Given the description of an element on the screen output the (x, y) to click on. 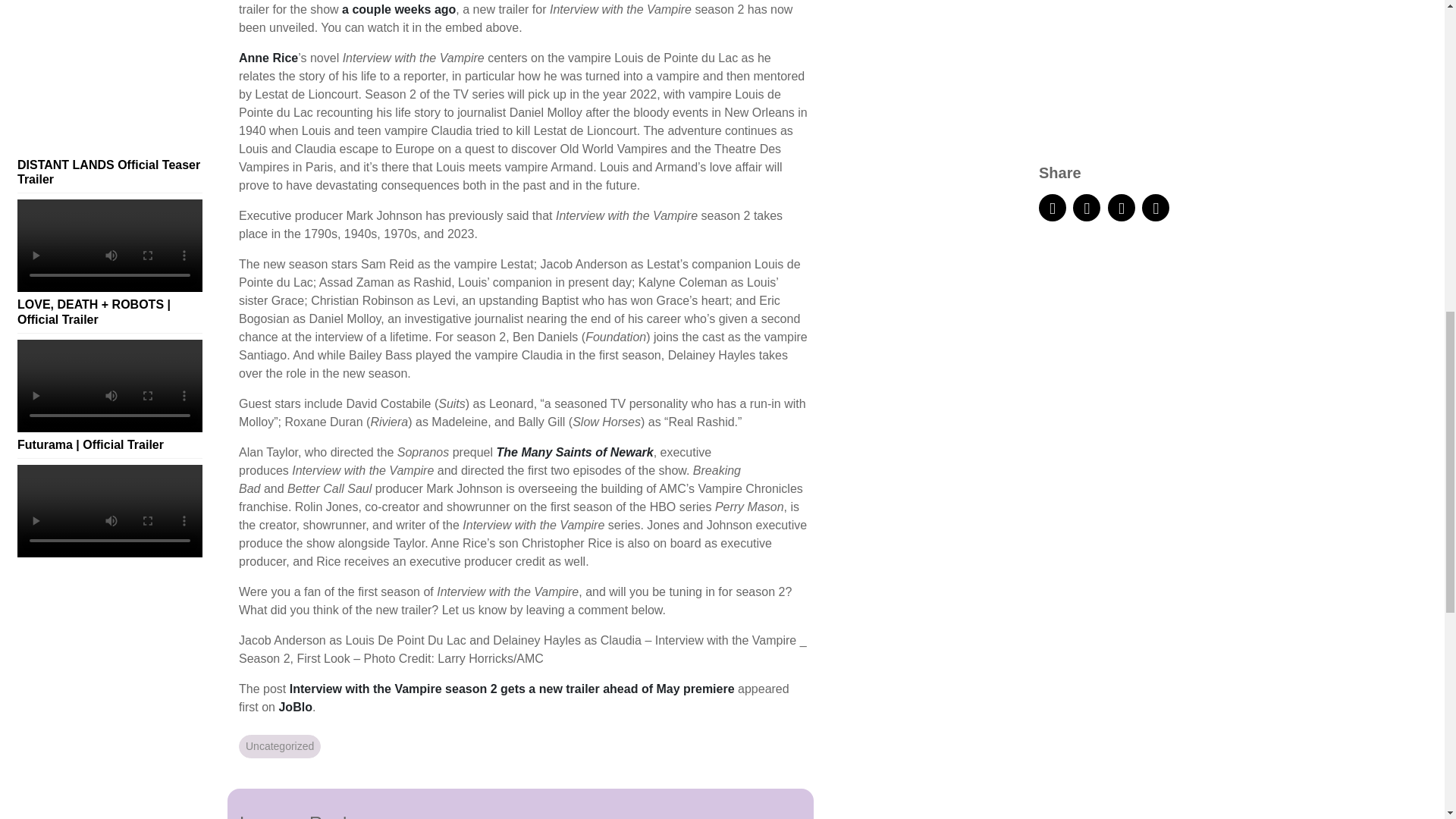
Anne Rice (268, 57)
a couple weeks ago (398, 9)
The Many Saints of Newark (574, 451)
Uncategorized (279, 746)
JoBlo (294, 707)
